Given the description of an element on the screen output the (x, y) to click on. 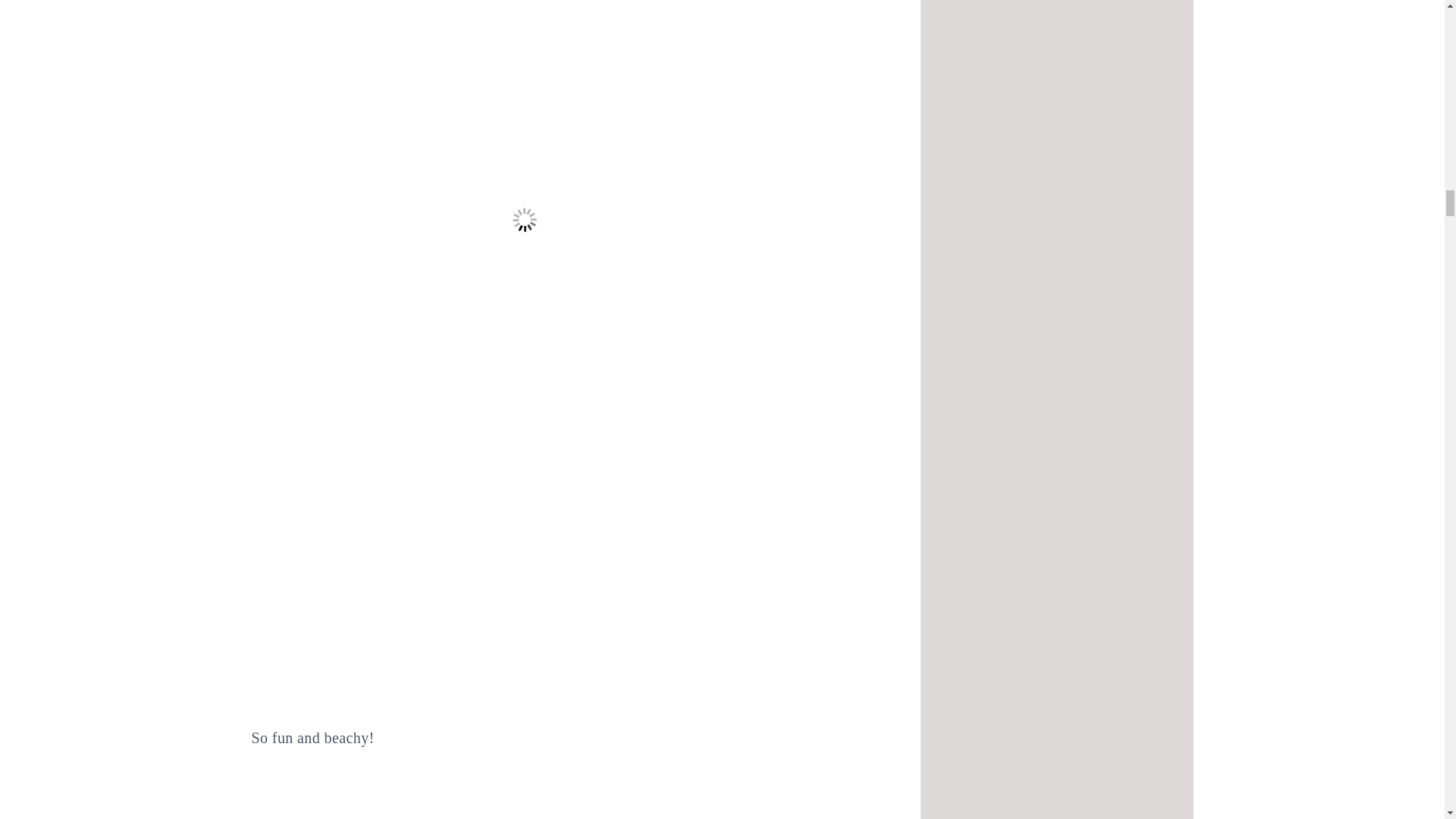
Painted Outdoor Rug Tutorial (524, 797)
